Given the description of an element on the screen output the (x, y) to click on. 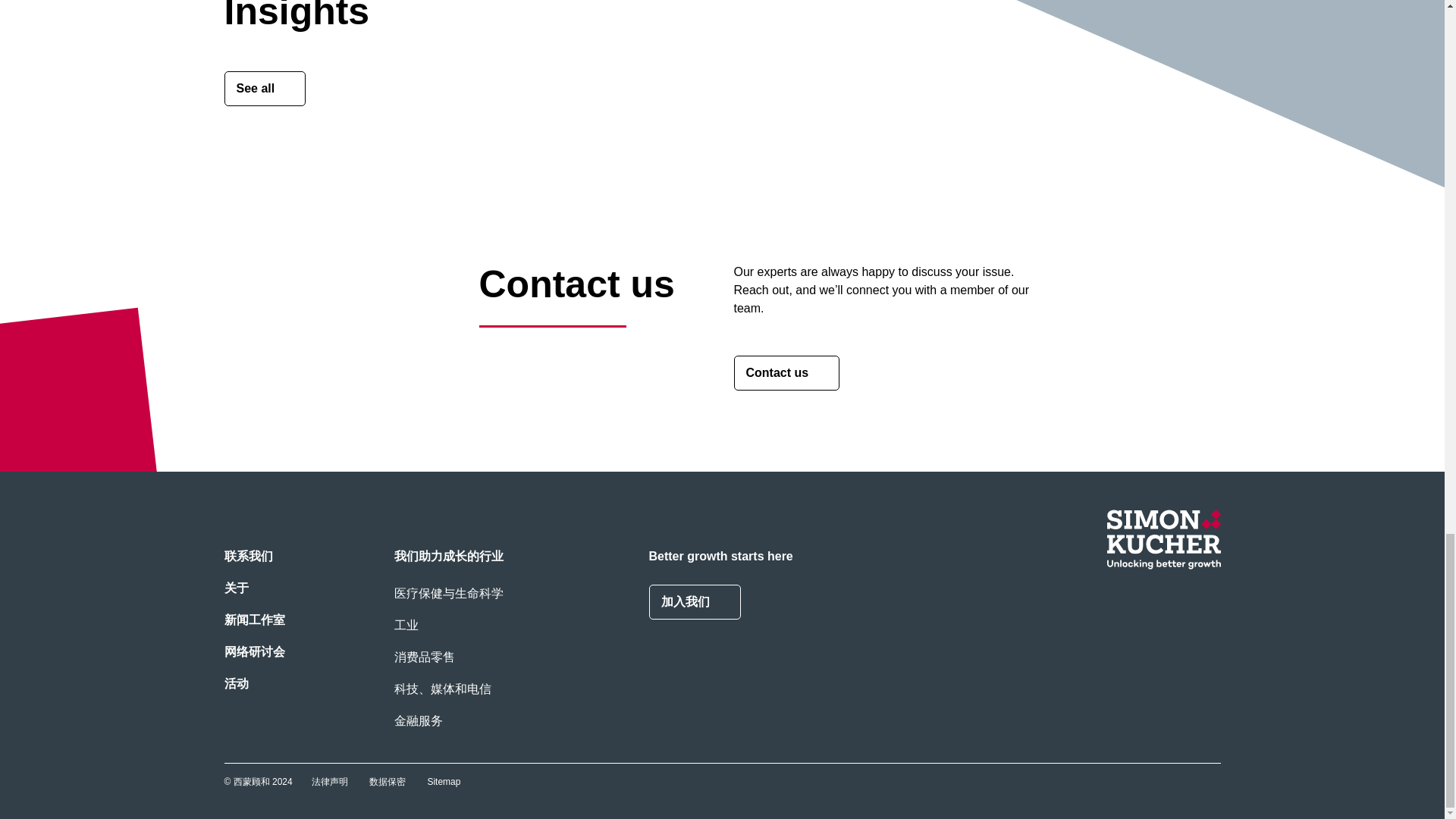
See all (264, 88)
Contact us (786, 372)
